Given the description of an element on the screen output the (x, y) to click on. 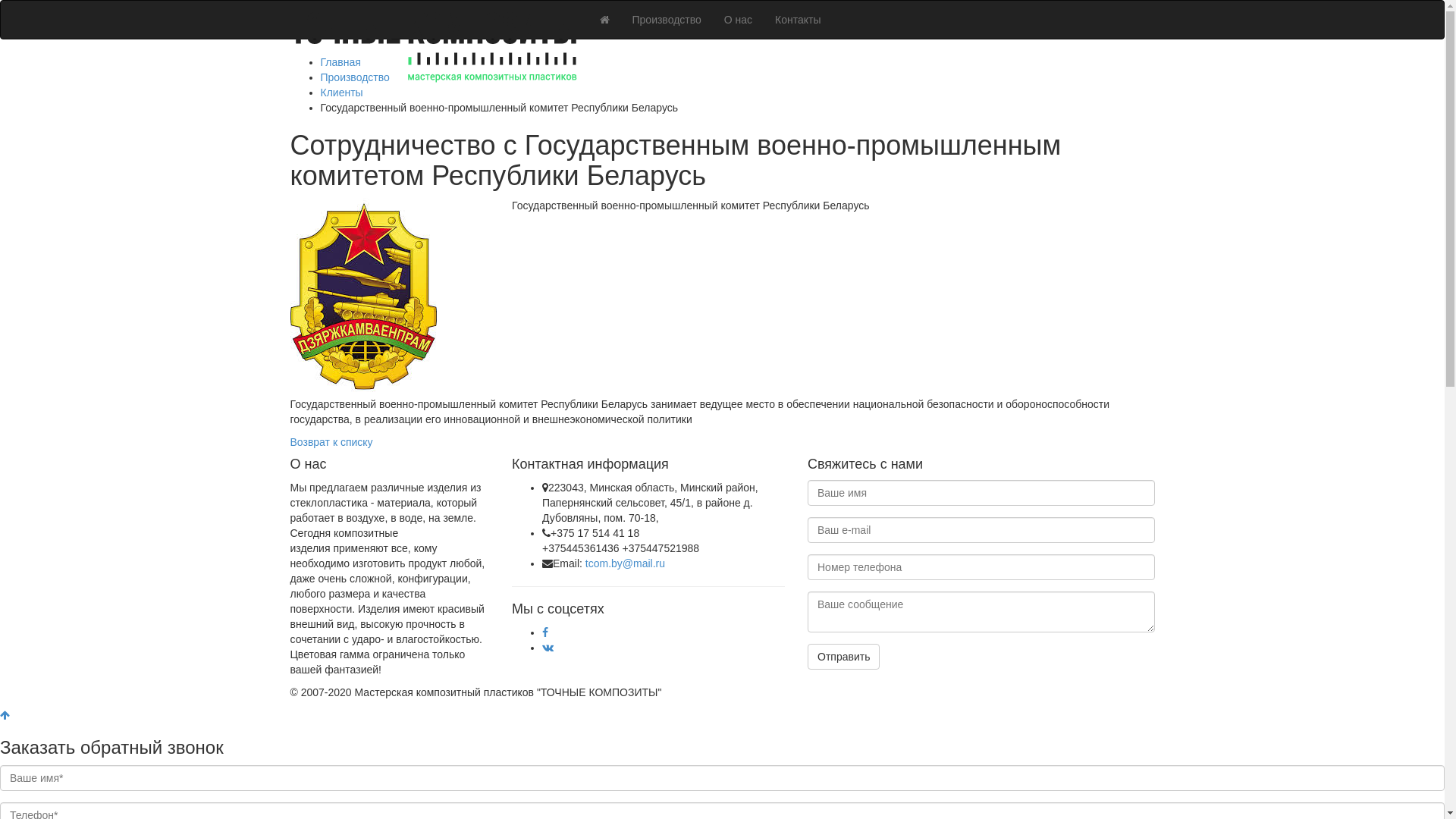
tcom.by@mail.ru Element type: text (625, 563)
